Given the description of an element on the screen output the (x, y) to click on. 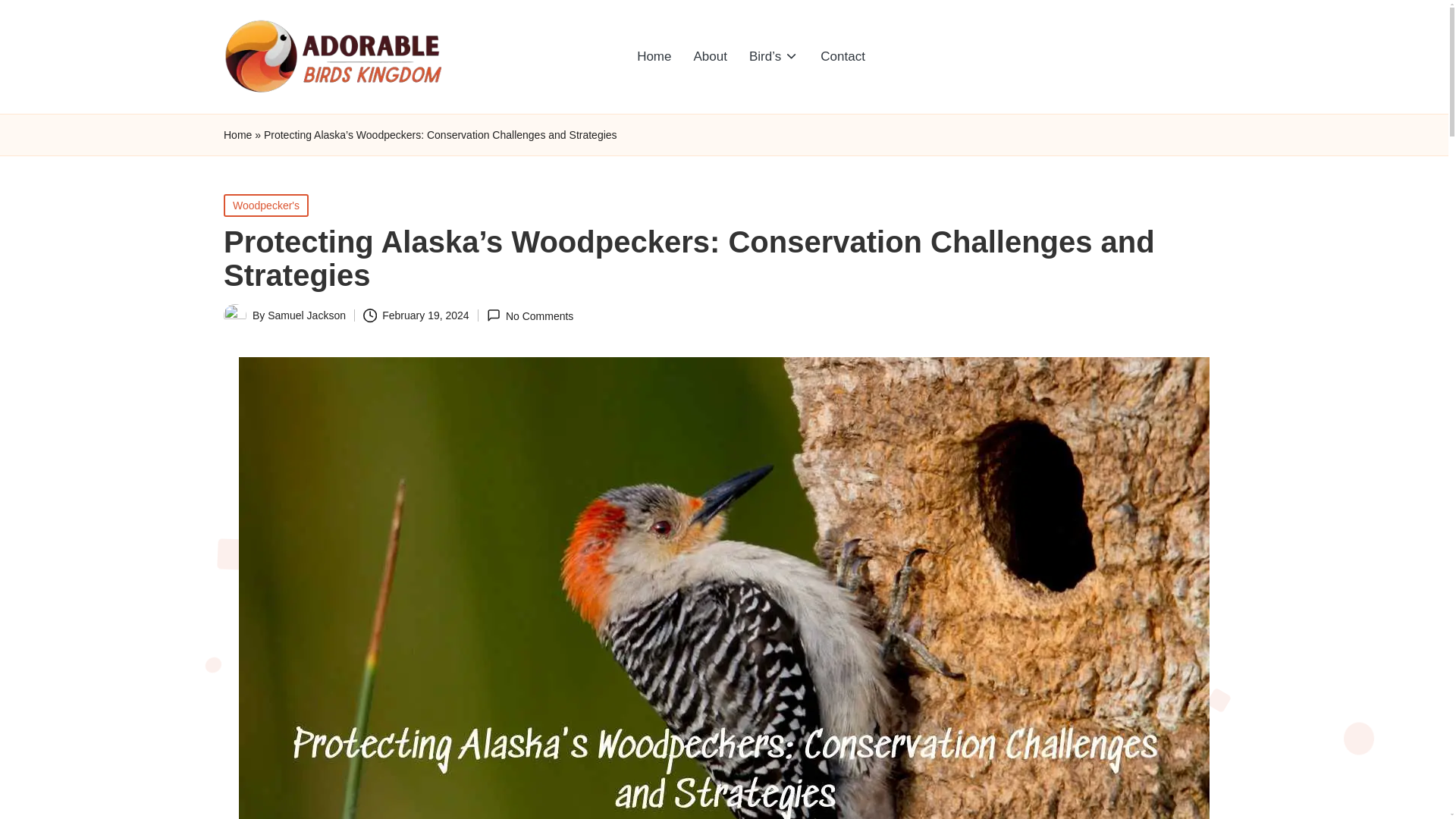
Home (237, 135)
No Comments (529, 315)
About (709, 56)
View all posts by Samuel Jackson (306, 315)
Samuel Jackson (306, 315)
Home (653, 56)
Contact (842, 56)
Woodpecker's (266, 205)
